Given the description of an element on the screen output the (x, y) to click on. 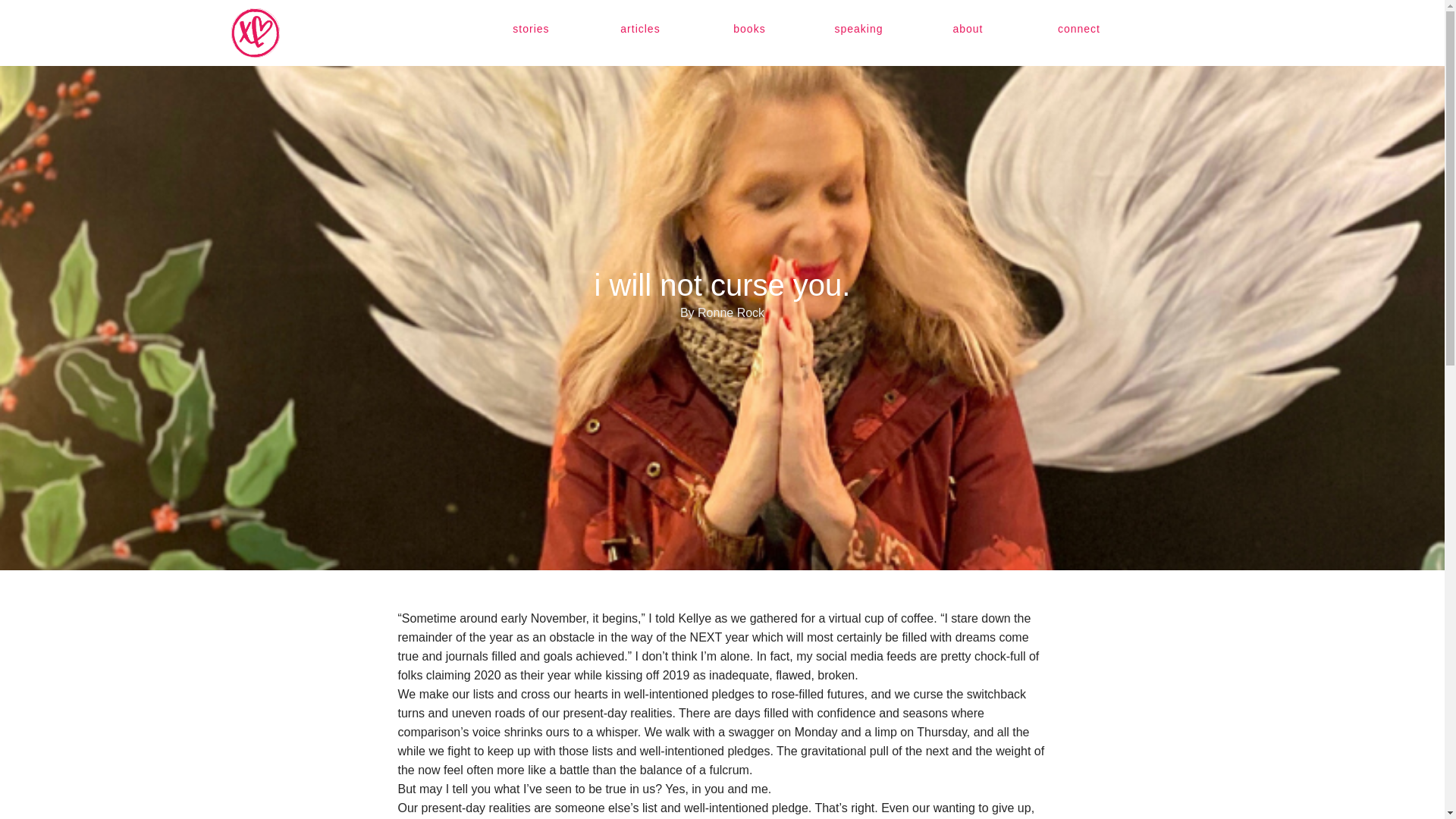
books (748, 29)
speaking (858, 29)
about (967, 29)
articles (639, 29)
Subscribe (35, 14)
connect (1078, 29)
Ronne Rock (271, 32)
stories (530, 29)
Ronne Rock (254, 32)
